Given the description of an element on the screen output the (x, y) to click on. 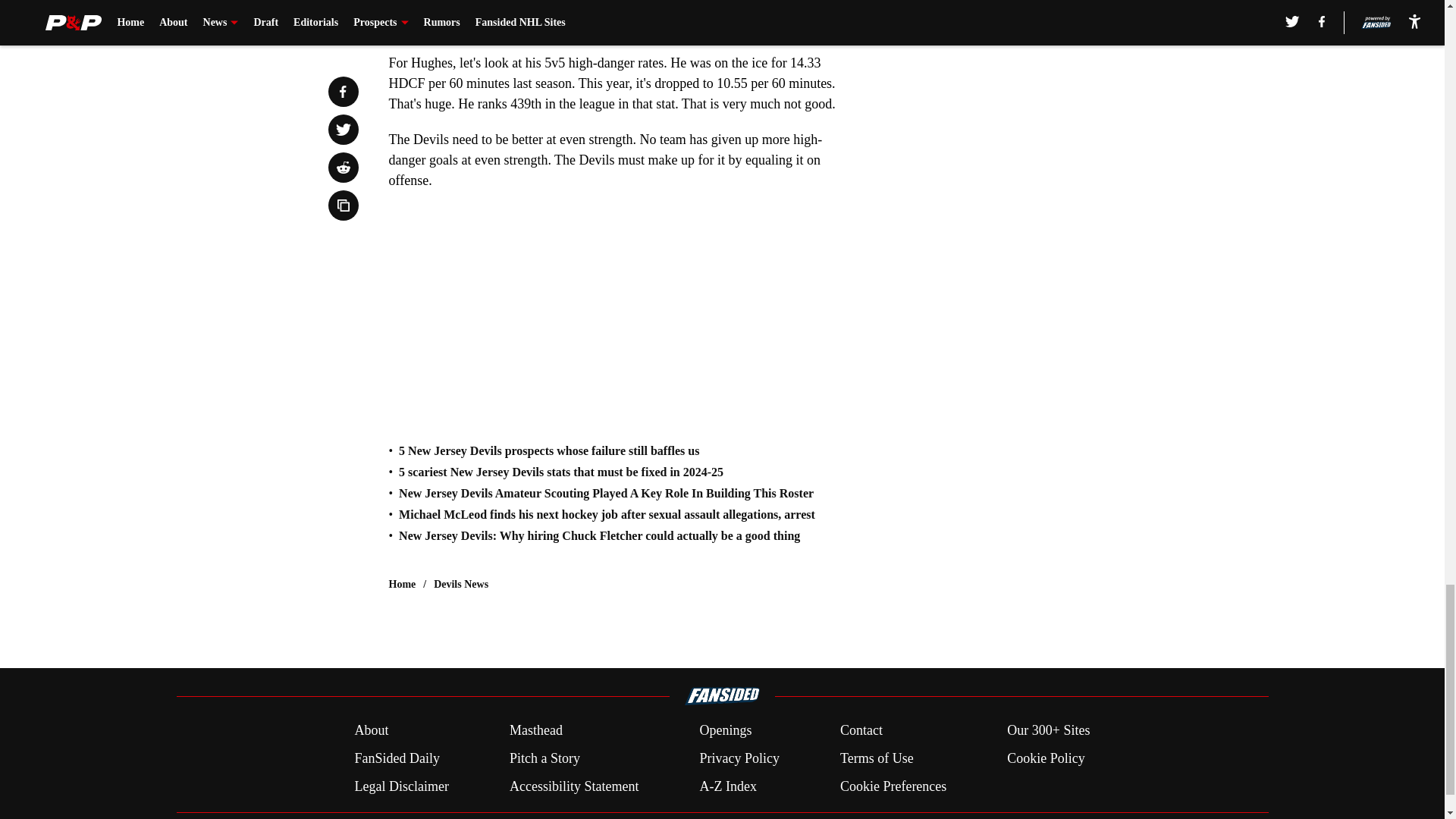
5 New Jersey Devils prospects whose failure still baffles us (548, 450)
About (370, 730)
Home (401, 584)
Devils News (460, 584)
Contact (861, 730)
FanSided Daily (396, 758)
Openings (724, 730)
